Given the description of an element on the screen output the (x, y) to click on. 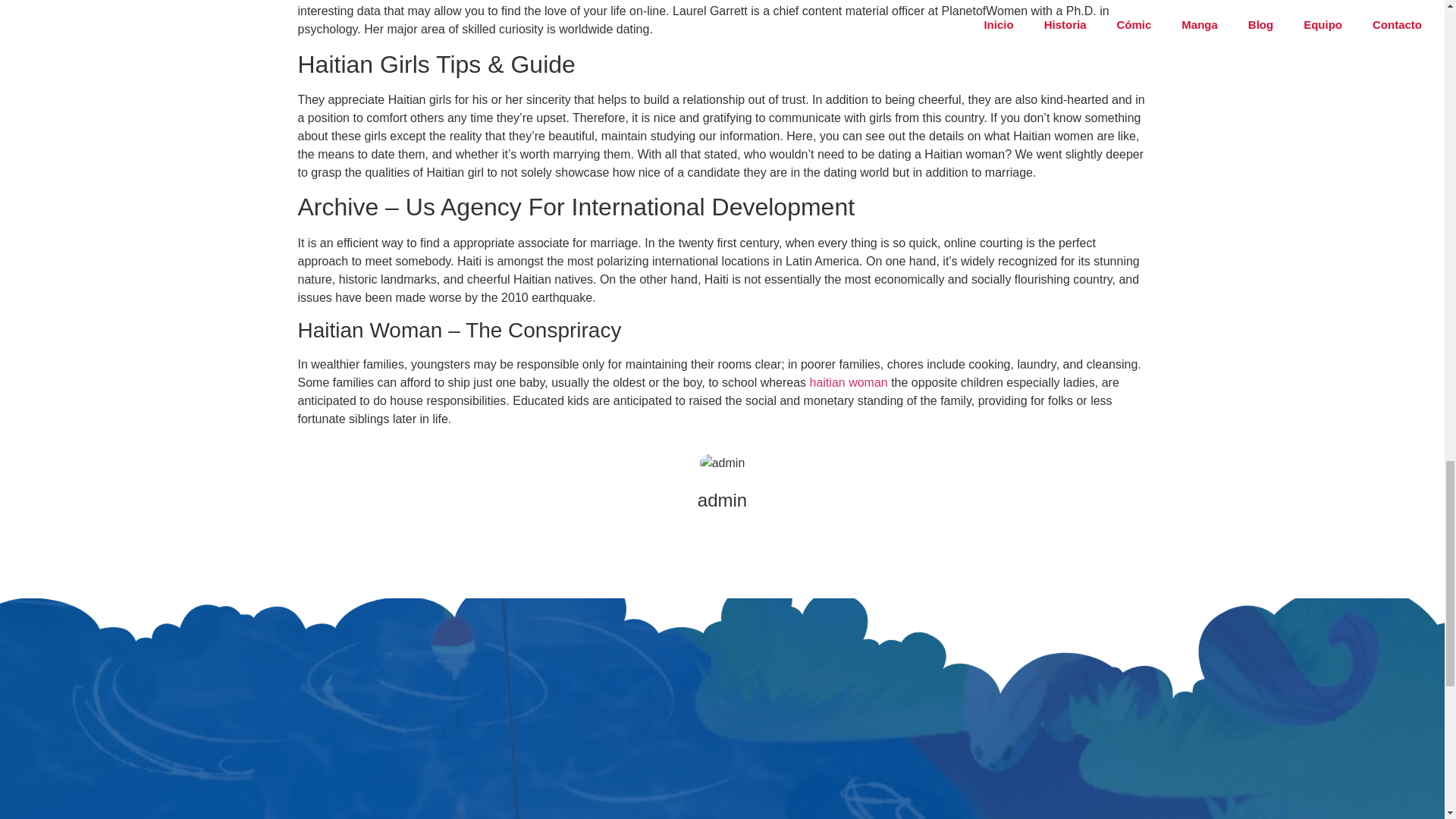
haitian woman (848, 382)
